Given the description of an element on the screen output the (x, y) to click on. 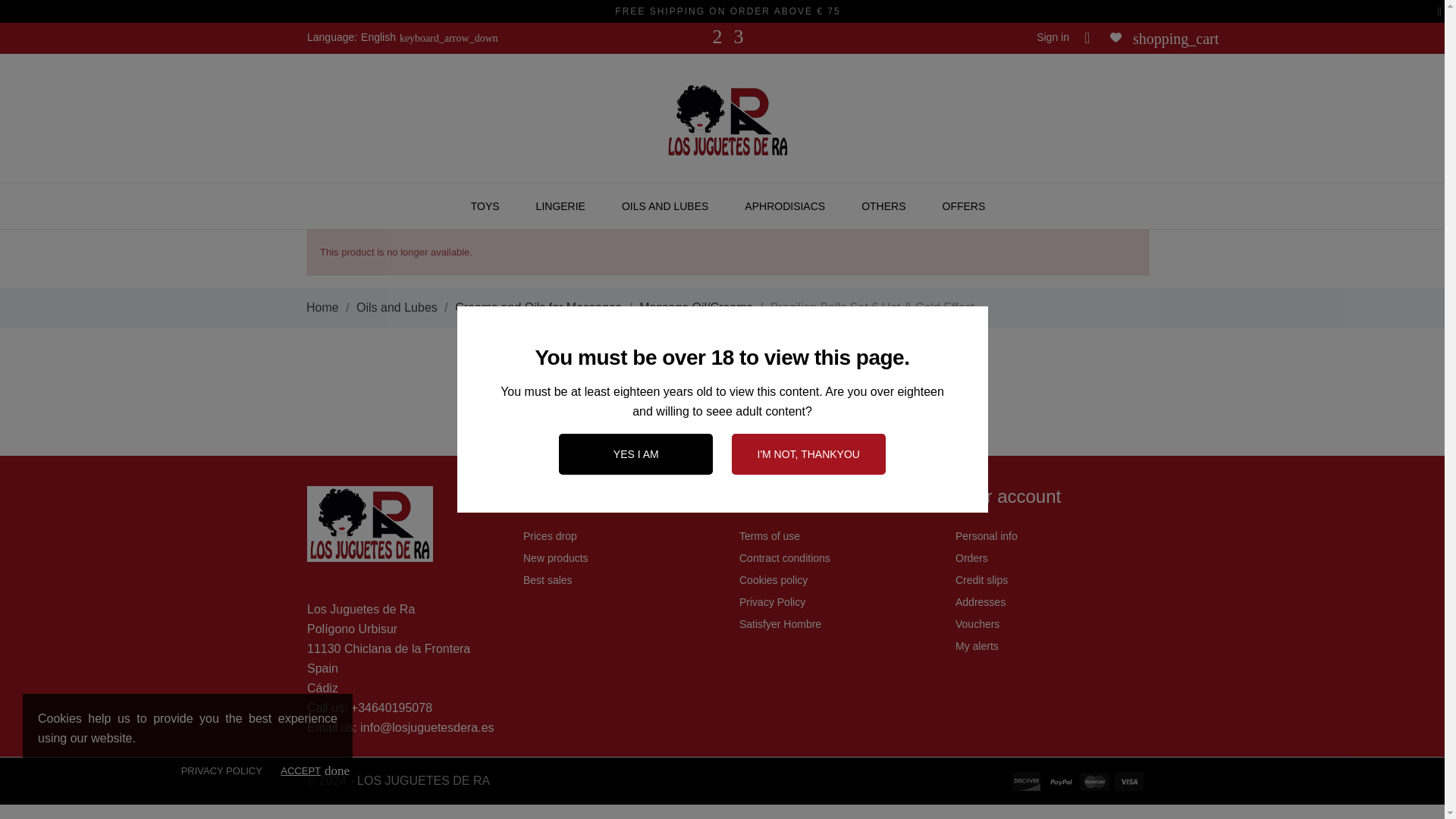
My wishlist (1115, 36)
Log in to your customer account (1052, 37)
YES I AM (636, 454)
TOYS (485, 205)
I'M NOT, THANKYOU (808, 454)
Sign in (1052, 37)
